Given the description of an element on the screen output the (x, y) to click on. 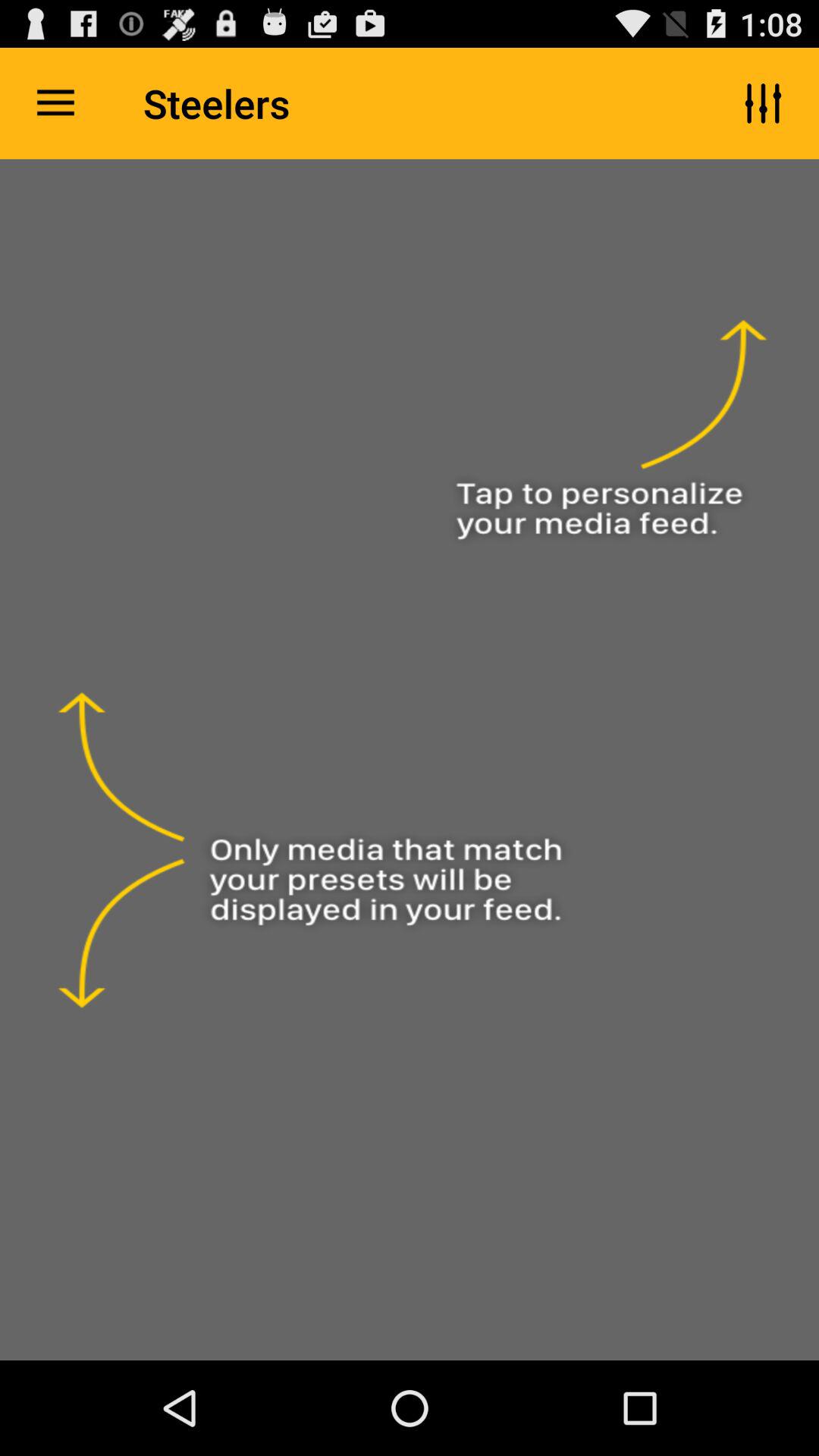
result screen (409, 759)
